Given the description of an element on the screen output the (x, y) to click on. 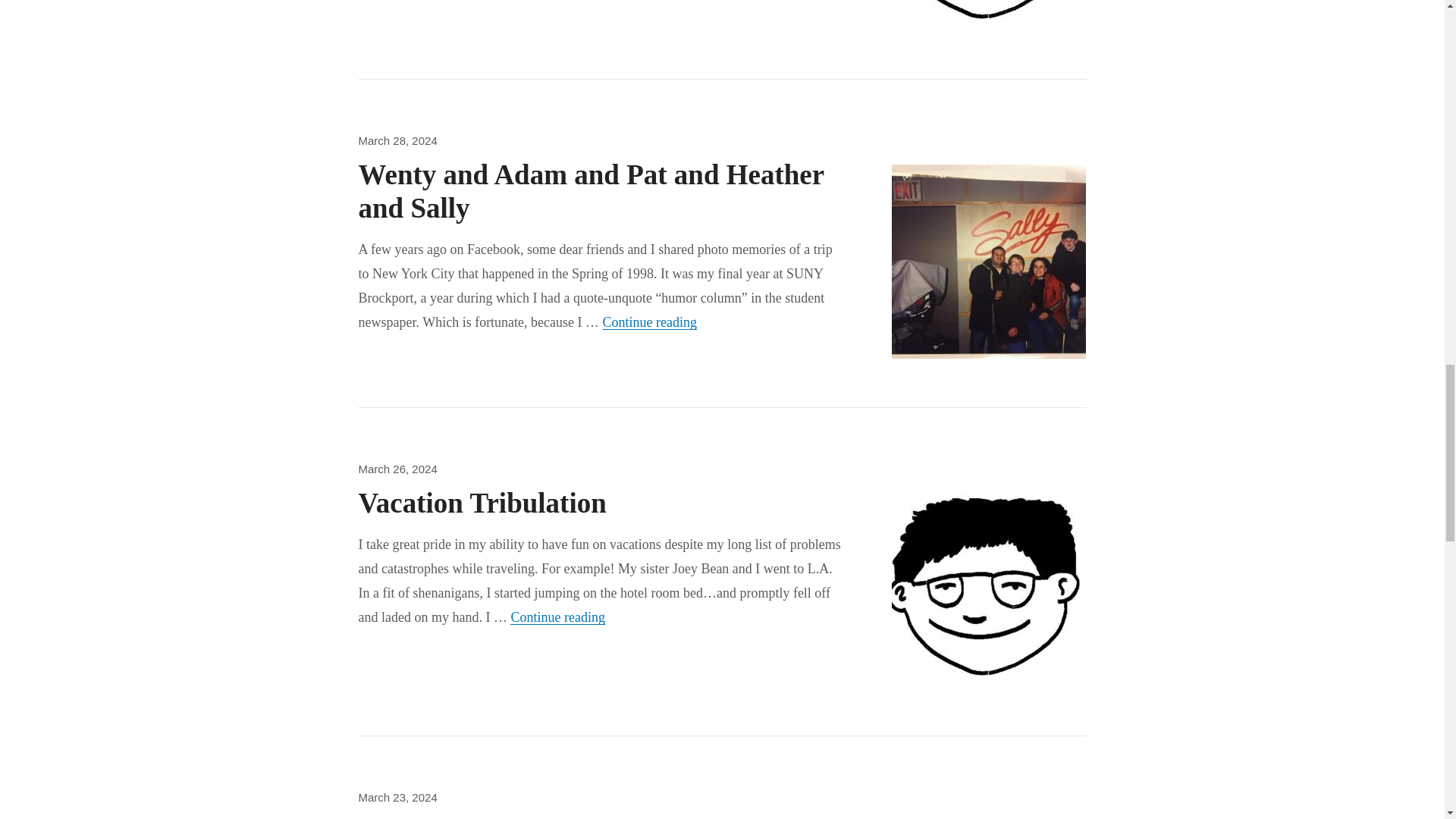
March 23, 2024 (397, 797)
Wenty and Adam and Pat and Heather and Sally (591, 190)
March 28, 2024 (397, 140)
Vacation Tribulation (481, 502)
March 26, 2024 (557, 616)
